Given the description of an element on the screen output the (x, y) to click on. 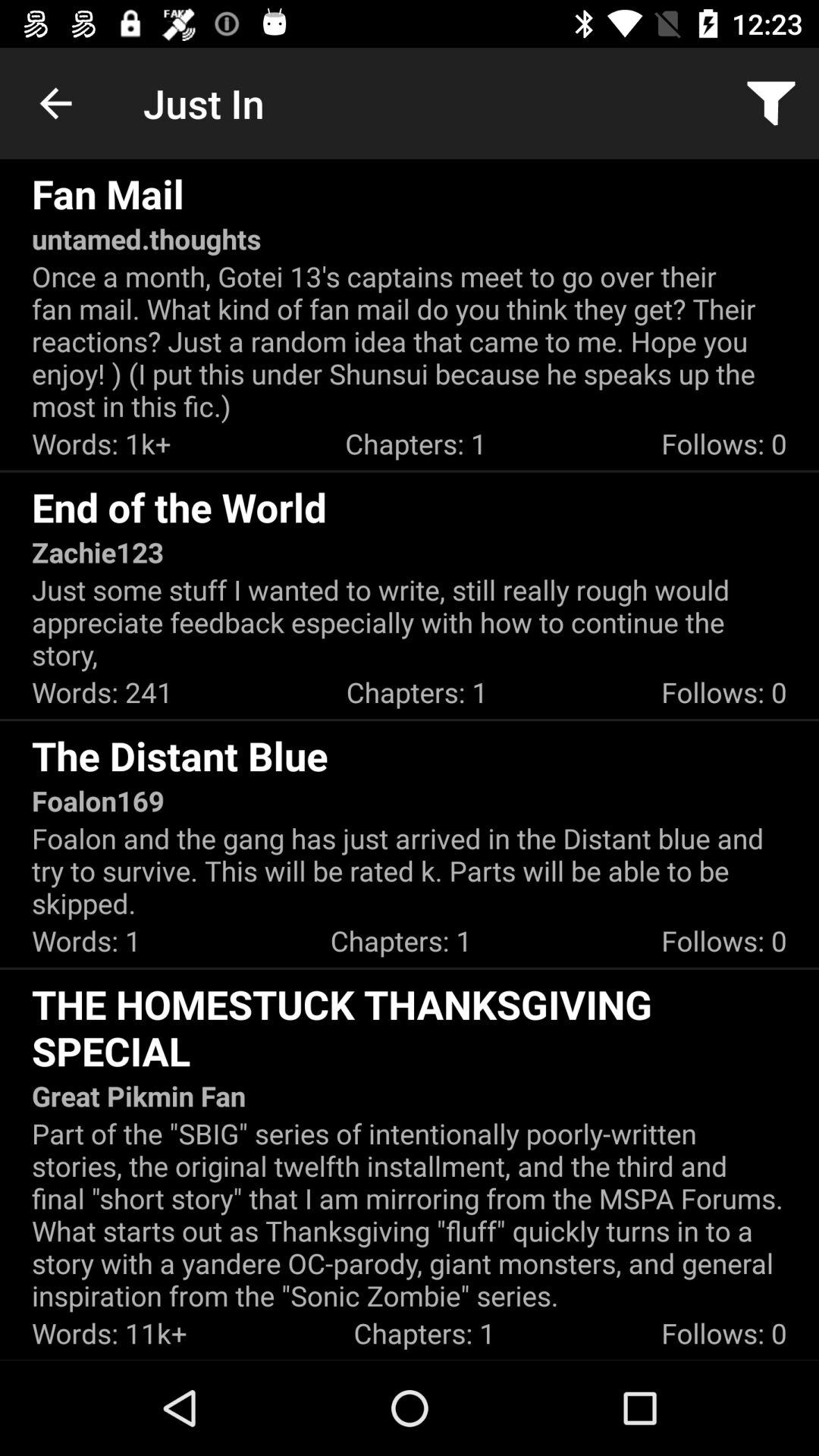
flip until the just some stuff item (409, 622)
